Given the description of an element on the screen output the (x, y) to click on. 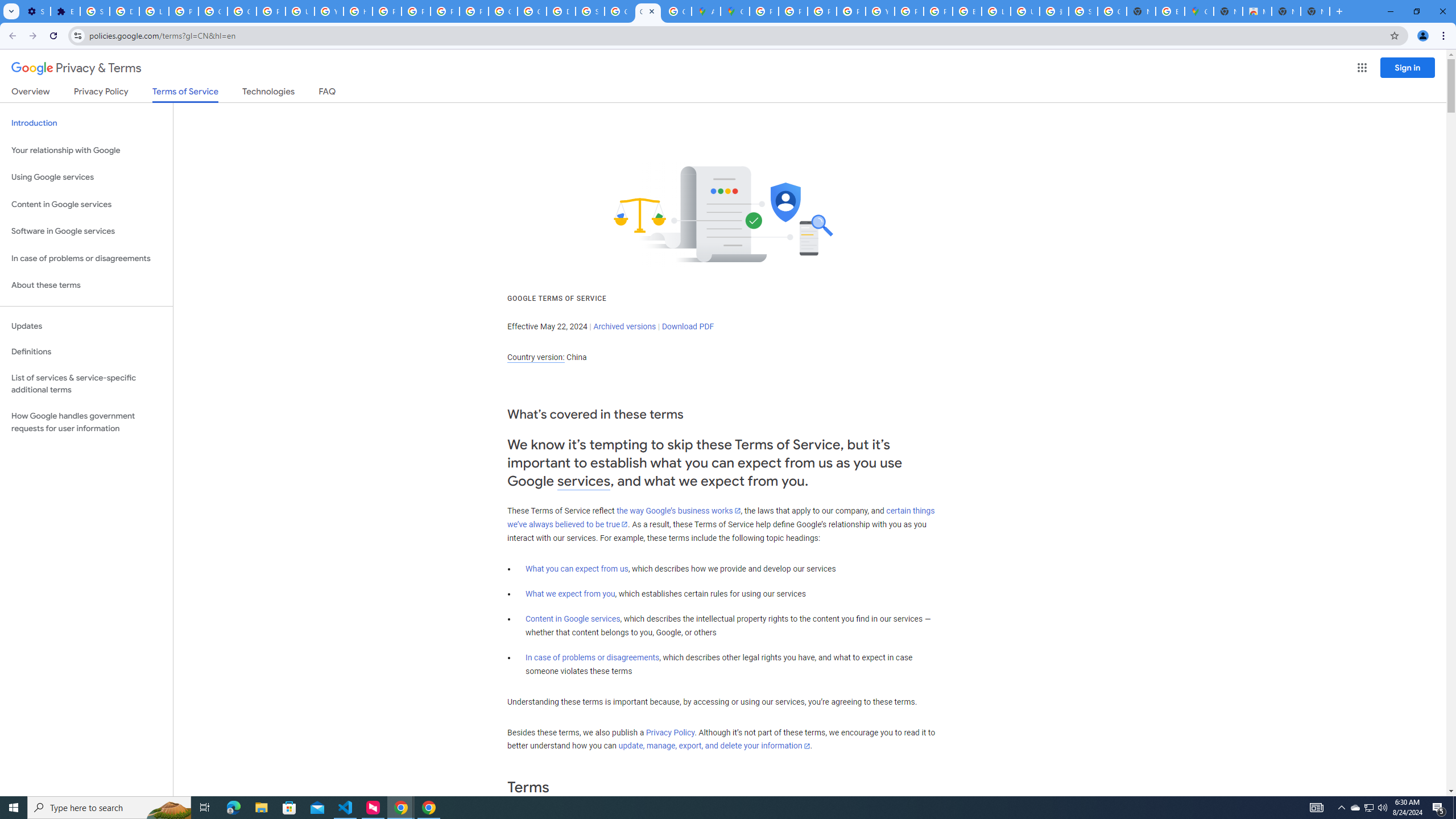
Privacy Help Center - Policies Help (386, 11)
Policy Accountability and Transparency - Transparency Center (763, 11)
Google Maps (734, 11)
